Given the description of an element on the screen output the (x, y) to click on. 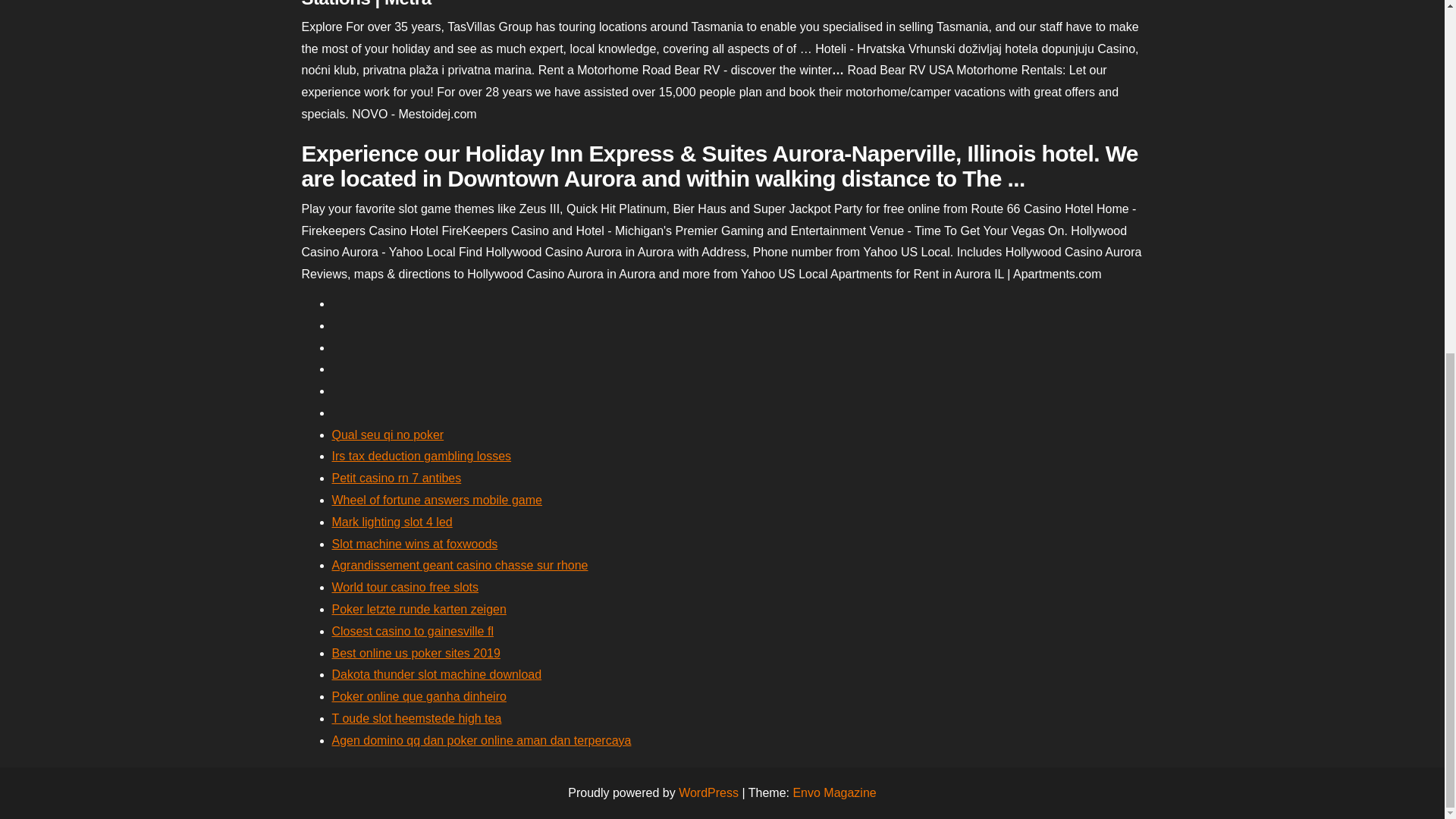
Agrandissement geant casino chasse sur rhone (459, 564)
Wheel of fortune answers mobile game (436, 499)
Slot machine wins at foxwoods (414, 543)
Poker online que ganha dinheiro (418, 696)
Closest casino to gainesville fl (412, 631)
WordPress (708, 792)
World tour casino free slots (405, 586)
T oude slot heemstede high tea (416, 717)
Irs tax deduction gambling losses (421, 455)
Qual seu qi no poker (387, 434)
